Given the description of an element on the screen output the (x, y) to click on. 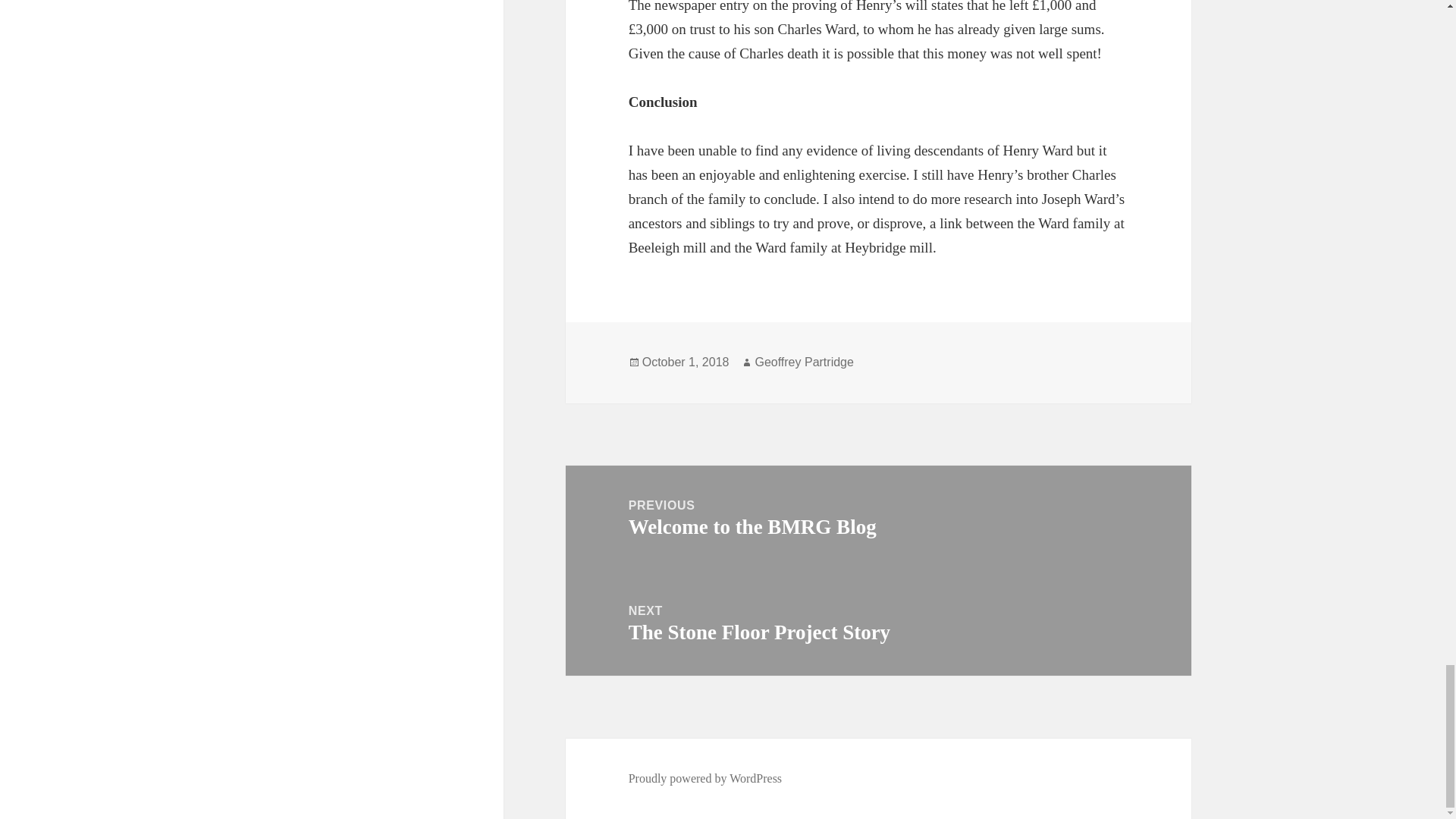
Geoffrey Partridge (803, 362)
Proudly powered by WordPress (704, 778)
October 1, 2018 (878, 623)
